Given the description of an element on the screen output the (x, y) to click on. 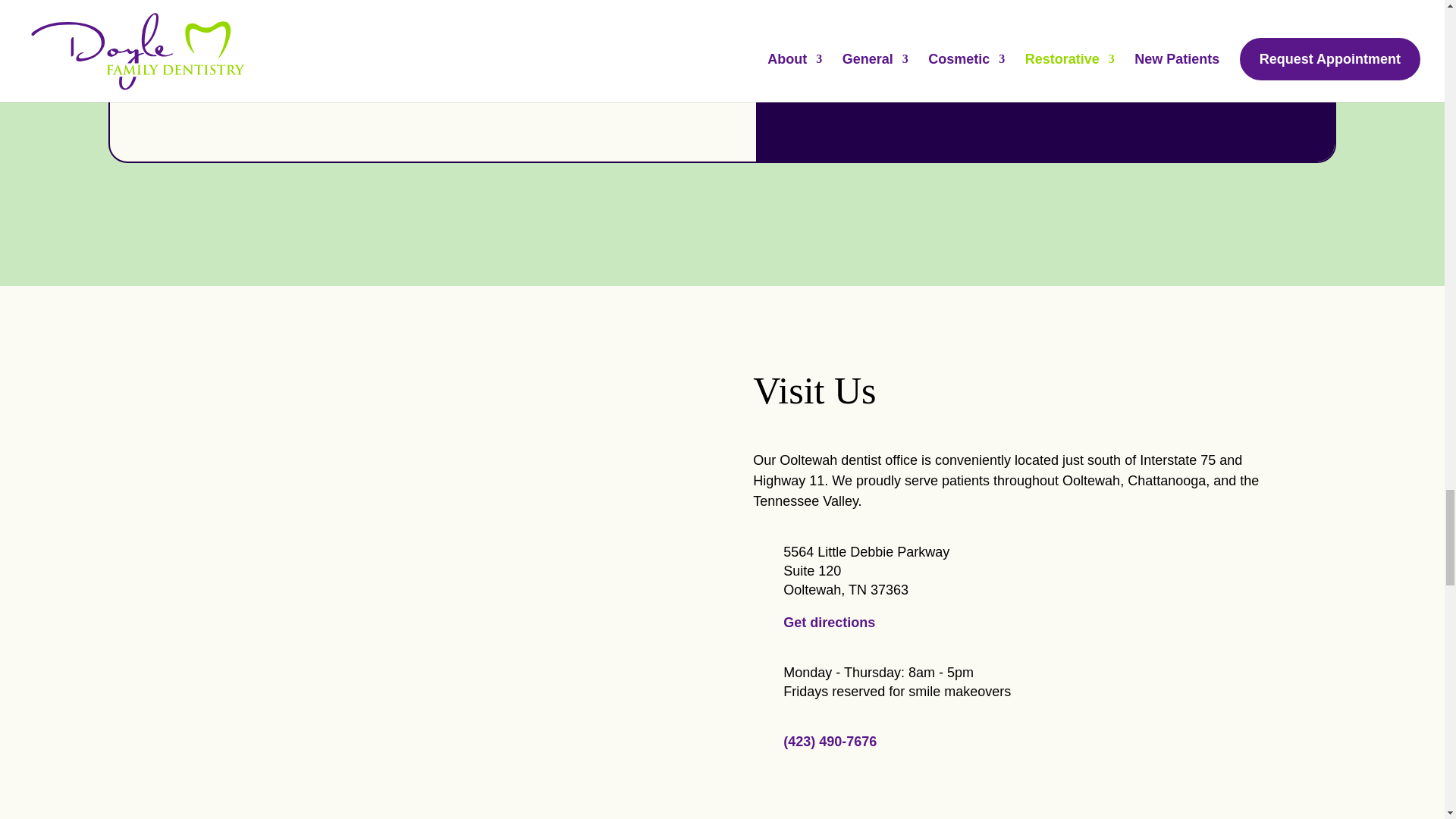
building-interior-waiting-room-doyle-family-dentistry (560, 500)
happy-patient-doyle-family-dentistry (560, 729)
contact-our-front-desk-doyle-family-dentistry (291, 729)
building-exterior-logo-doyle-family-dentistry (291, 500)
